Given the description of an element on the screen output the (x, y) to click on. 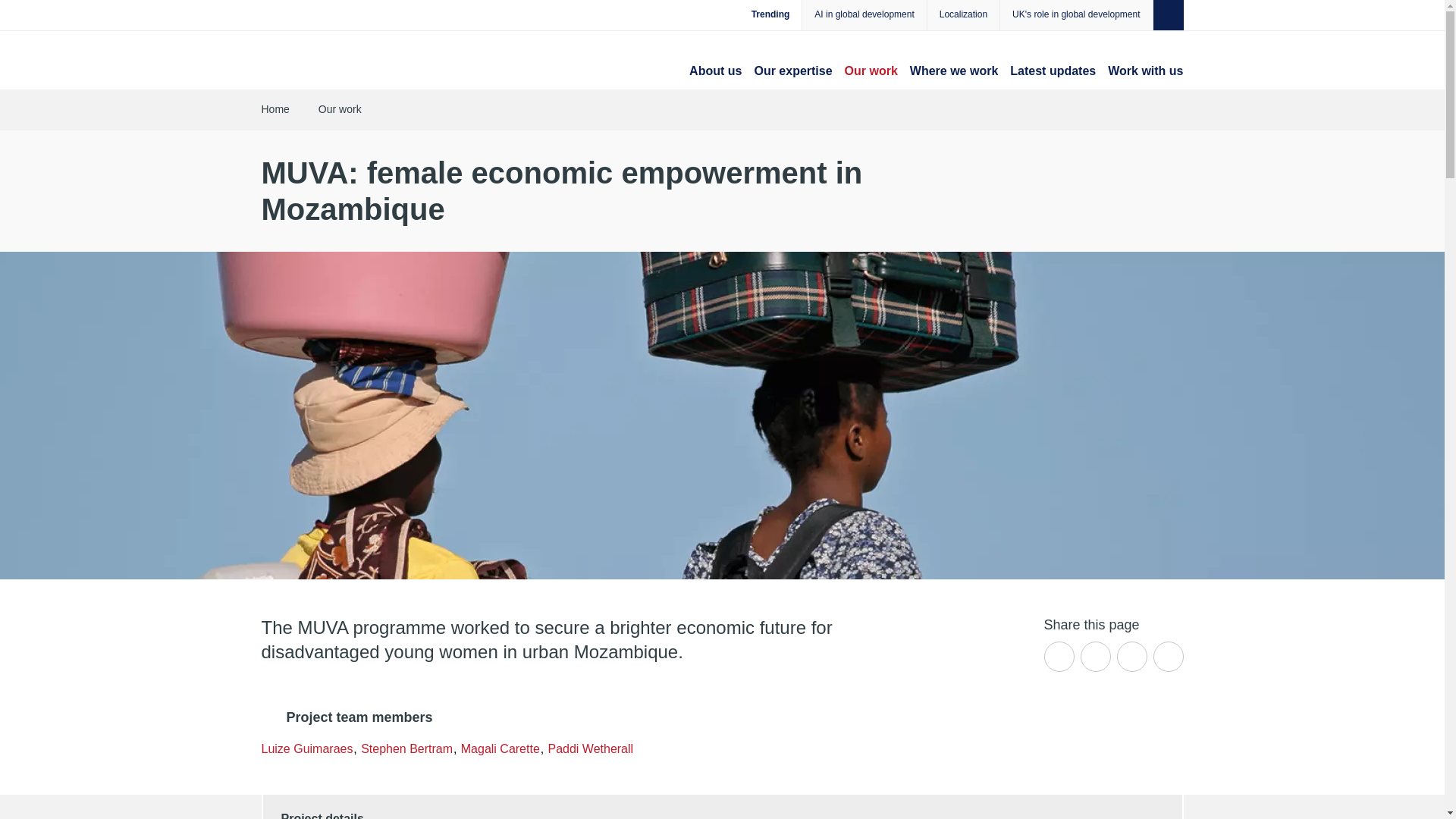
About us (714, 70)
Share via Twitter (1058, 656)
View all work by Magali Carette (500, 748)
View all work by Paddi Wetherall (590, 748)
Go to Stephen Bertram's profile (406, 748)
Share via Email (1167, 656)
Share via Facebook (1094, 656)
Latest updates (1053, 70)
Where we work (953, 70)
Skip to main content (24, 12)
